Given the description of an element on the screen output the (x, y) to click on. 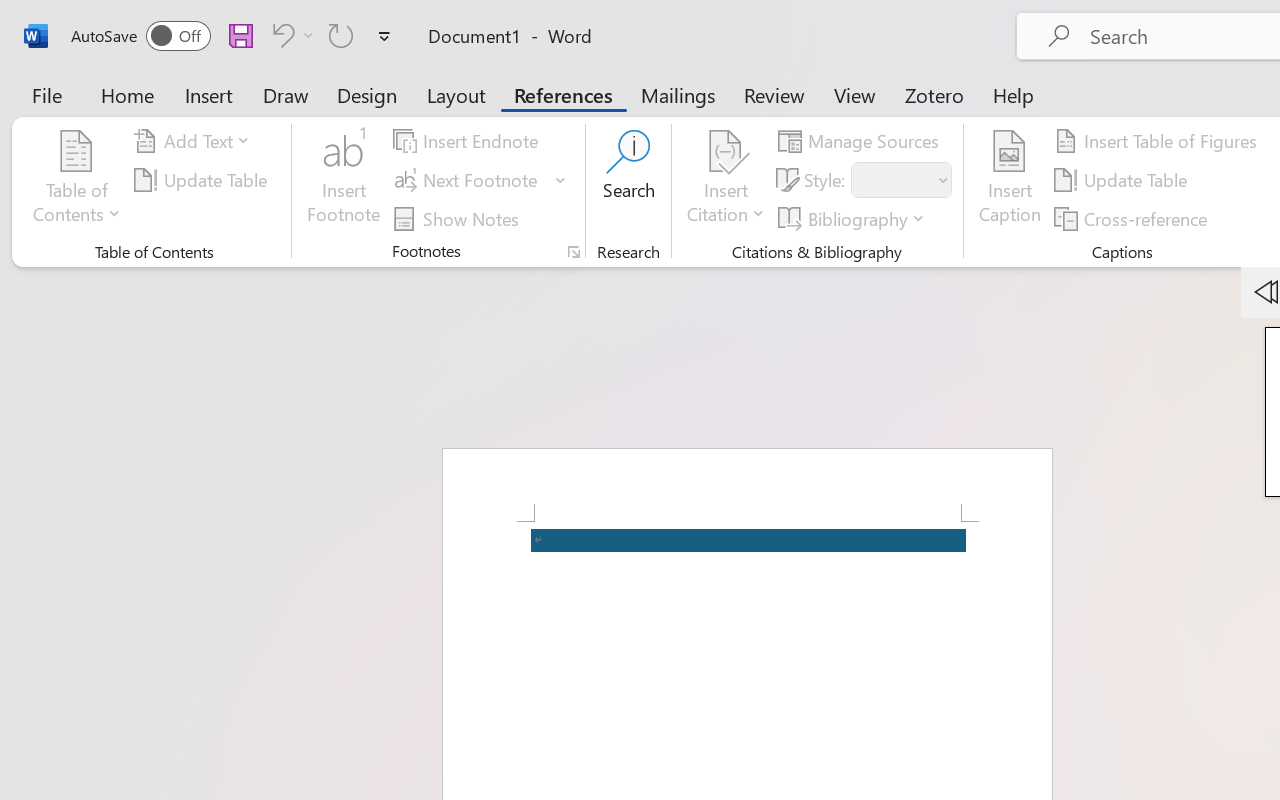
Forward (57, 69)
